Given the description of an element on the screen output the (x, y) to click on. 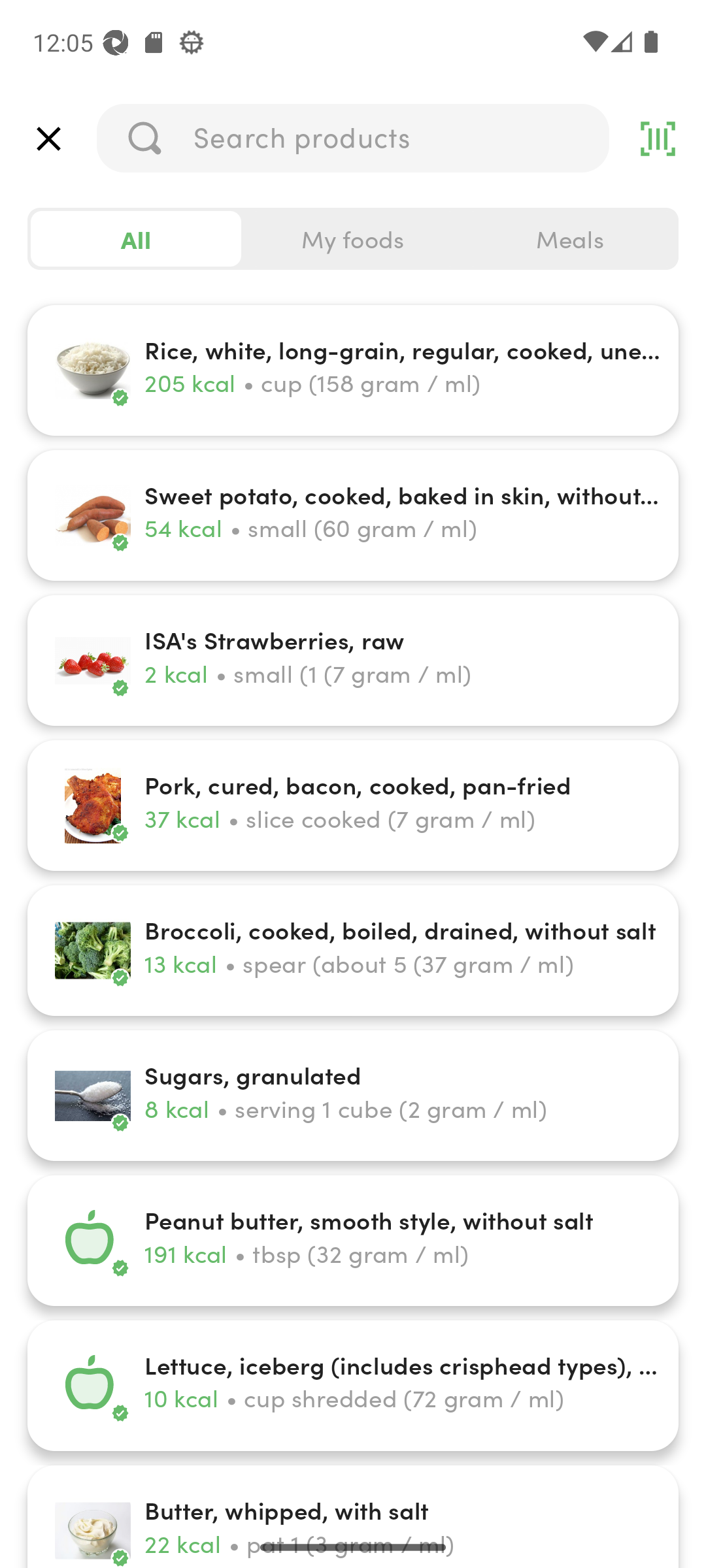
top_left_action (48, 138)
top_right_action (658, 138)
My foods (352, 238)
Meals (569, 238)
